Given the description of an element on the screen output the (x, y) to click on. 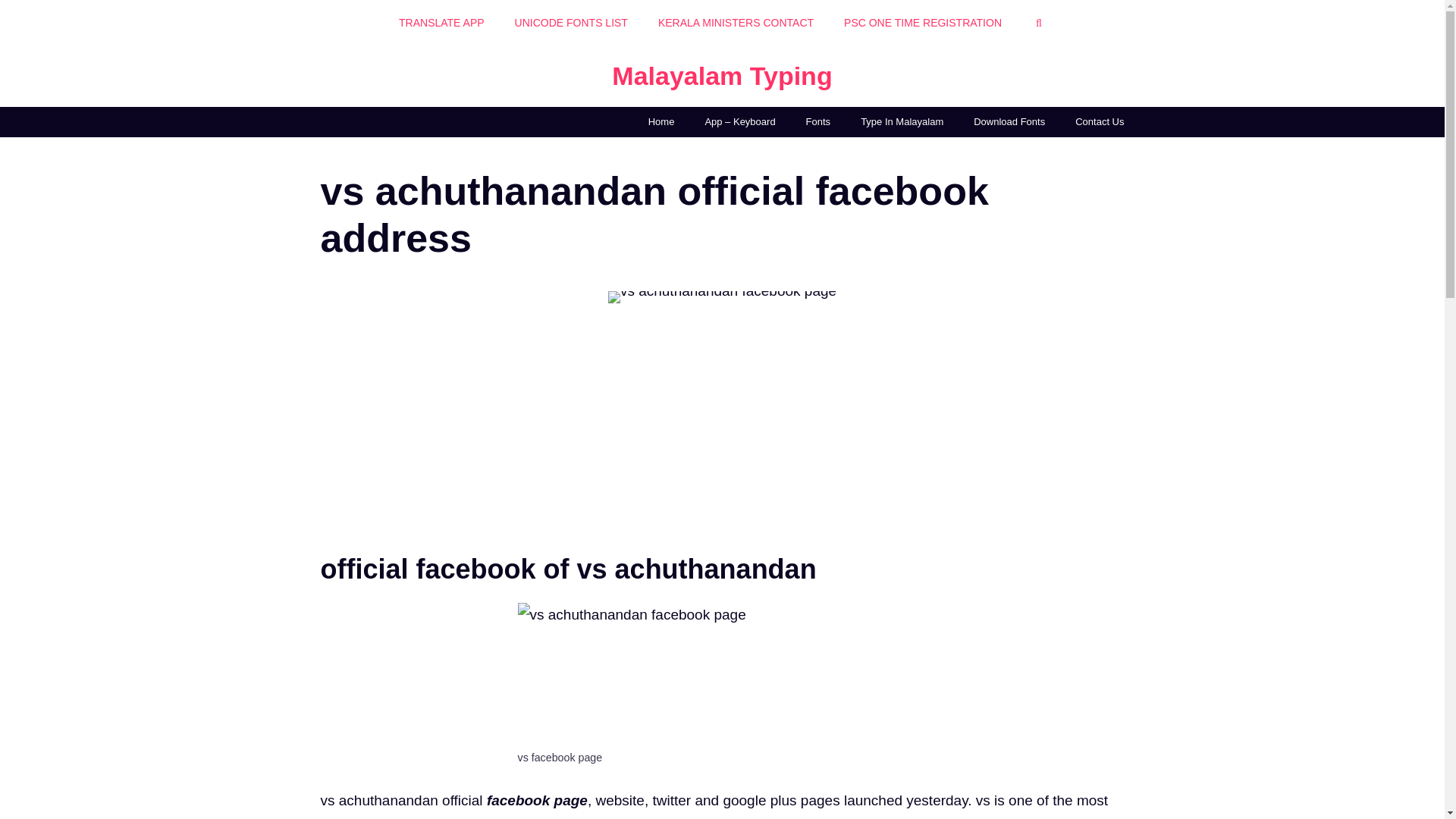
Malayalam Fonts List (817, 122)
Type Malayalam (661, 122)
Download Malayalam Fonts (1008, 122)
Contact Us (1098, 122)
TRANSLATE APP (441, 22)
Fonts (817, 122)
Malayalam Translate App (441, 22)
UNICODE FONTS LIST (571, 22)
PSC ONE TIME REGISTRATION (922, 22)
KERALA MINISTERS CONTACT (735, 22)
